Given the description of an element on the screen output the (x, y) to click on. 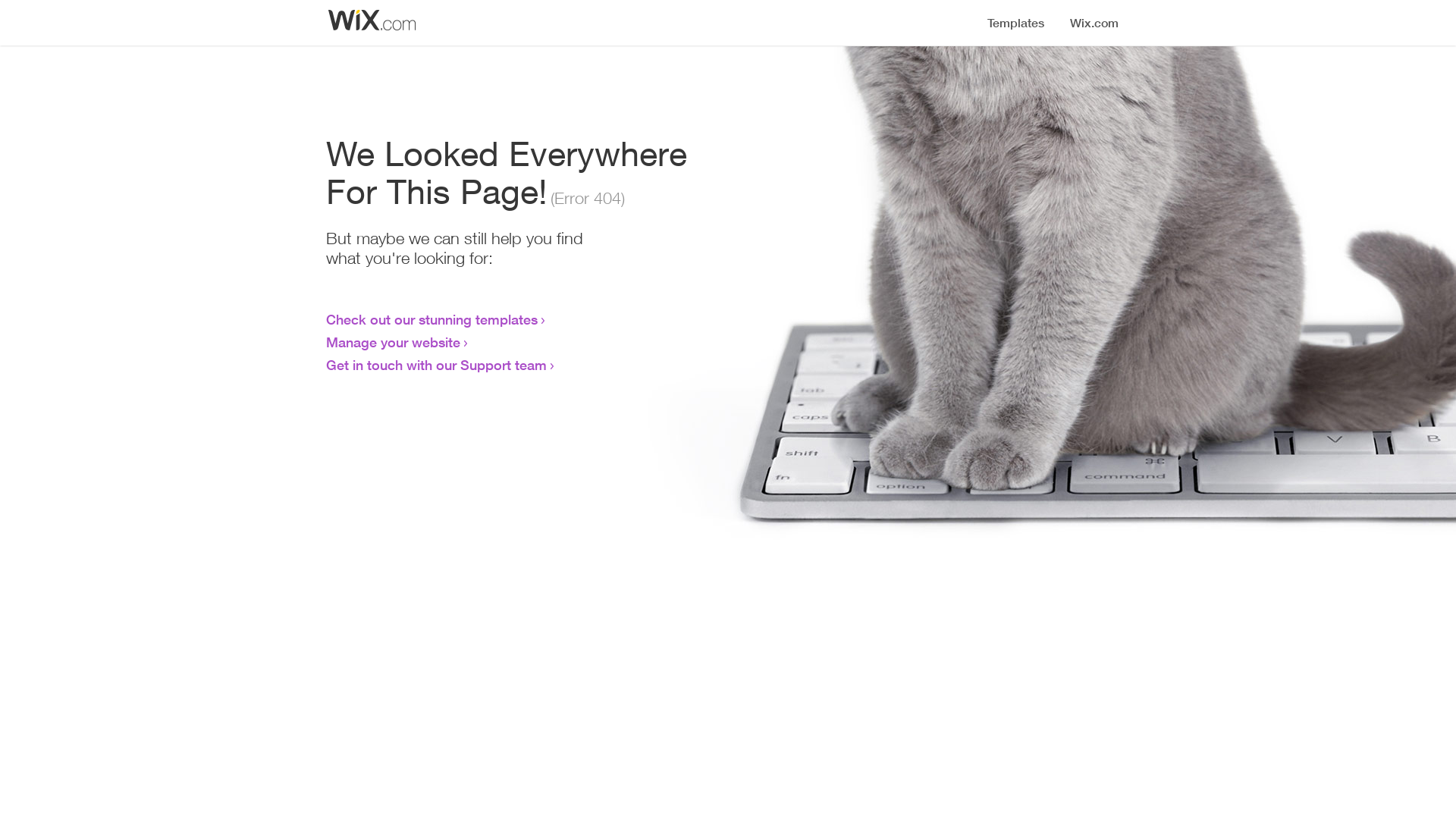
Check out our stunning templates Element type: text (431, 318)
Manage your website Element type: text (393, 341)
Get in touch with our Support team Element type: text (436, 364)
